Given the description of an element on the screen output the (x, y) to click on. 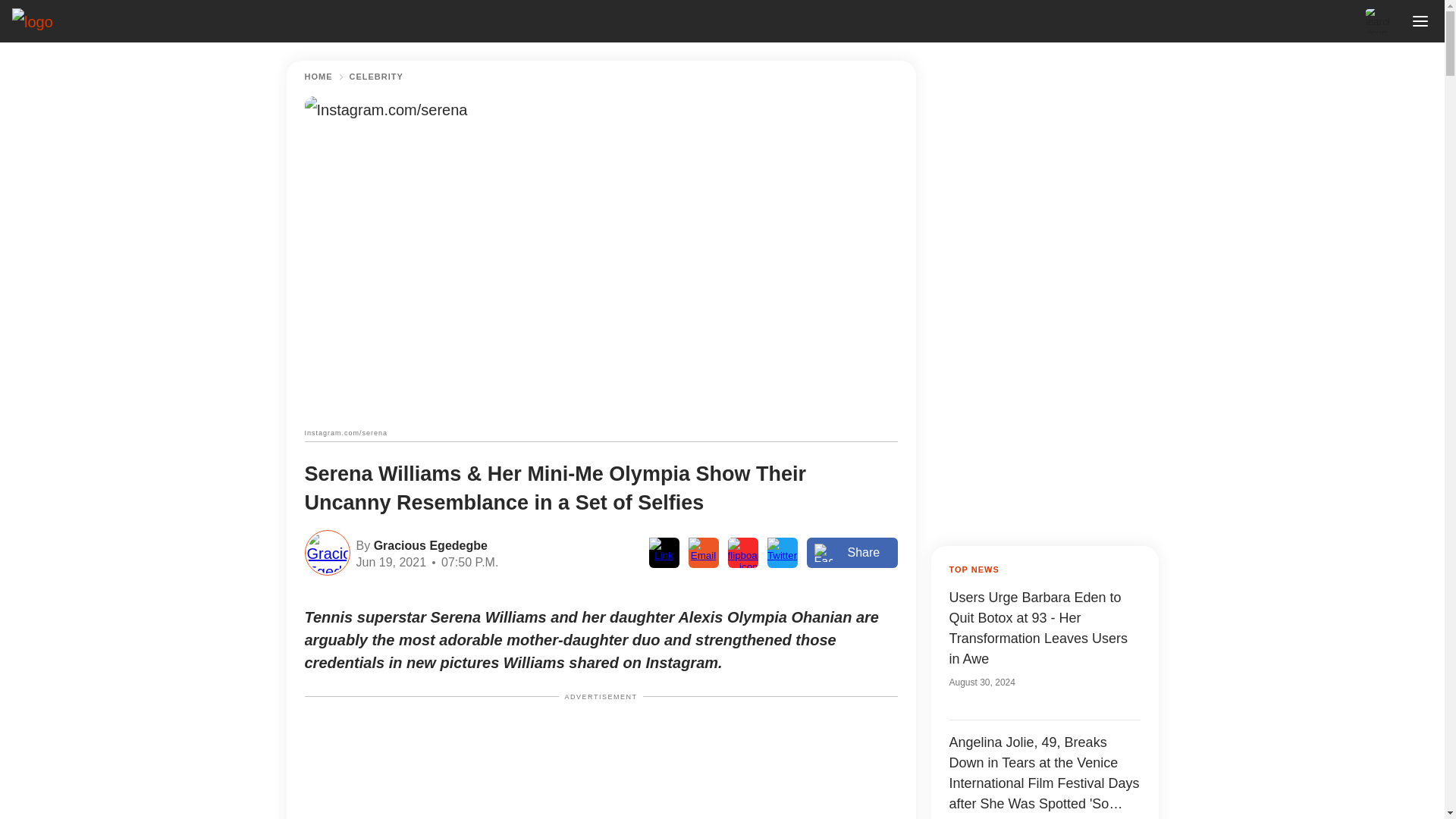
Gracious Egedegbe (428, 544)
CELEBRITY (376, 76)
HOME (318, 76)
